Given the description of an element on the screen output the (x, y) to click on. 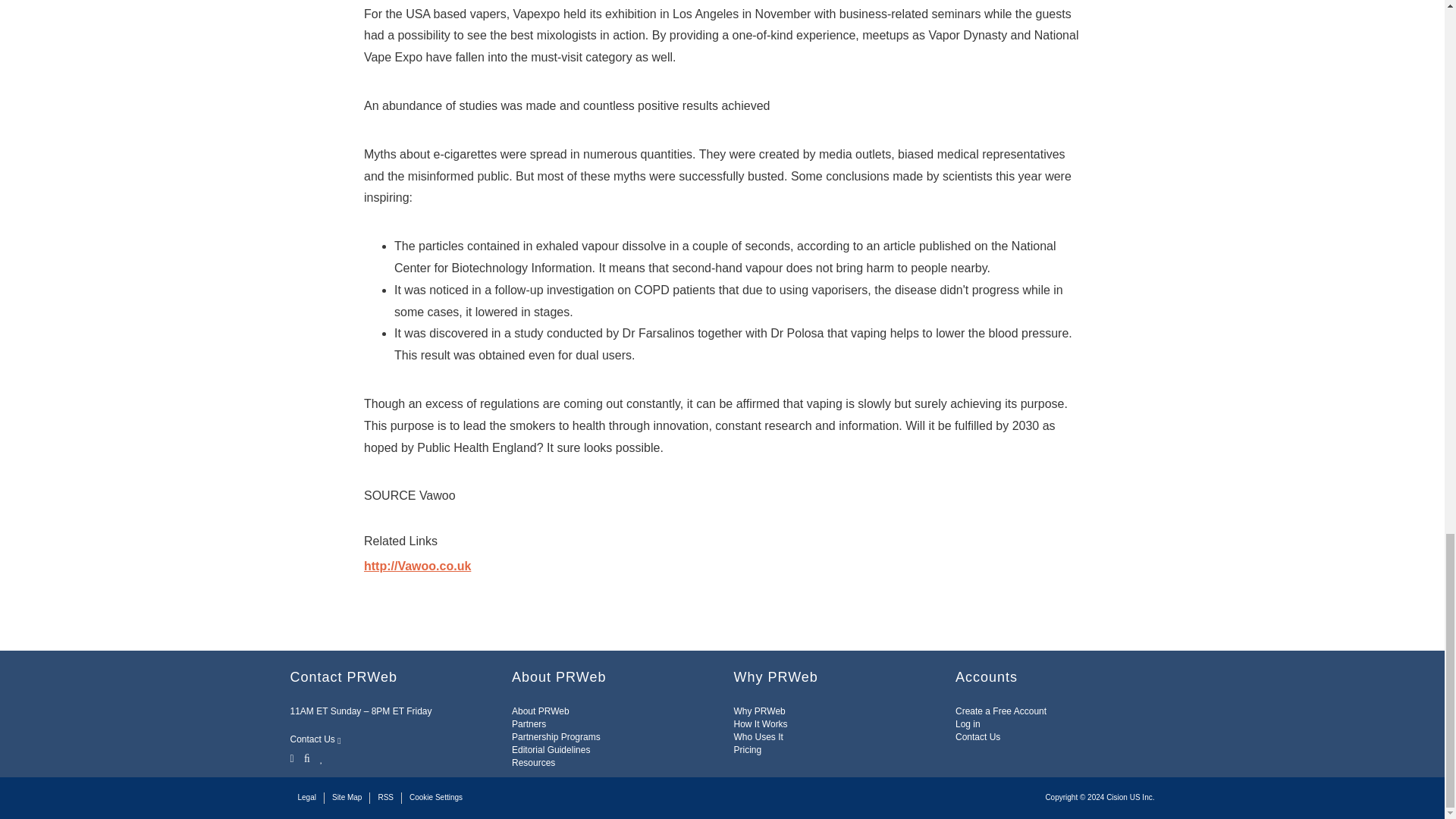
Facebook (306, 757)
Editorial Guidelines (550, 749)
How It Works (760, 724)
Partnership Programs (555, 737)
Why PRWeb (759, 710)
About PRWeb (540, 710)
Partners (529, 724)
Resources (533, 762)
